Given the description of an element on the screen output the (x, y) to click on. 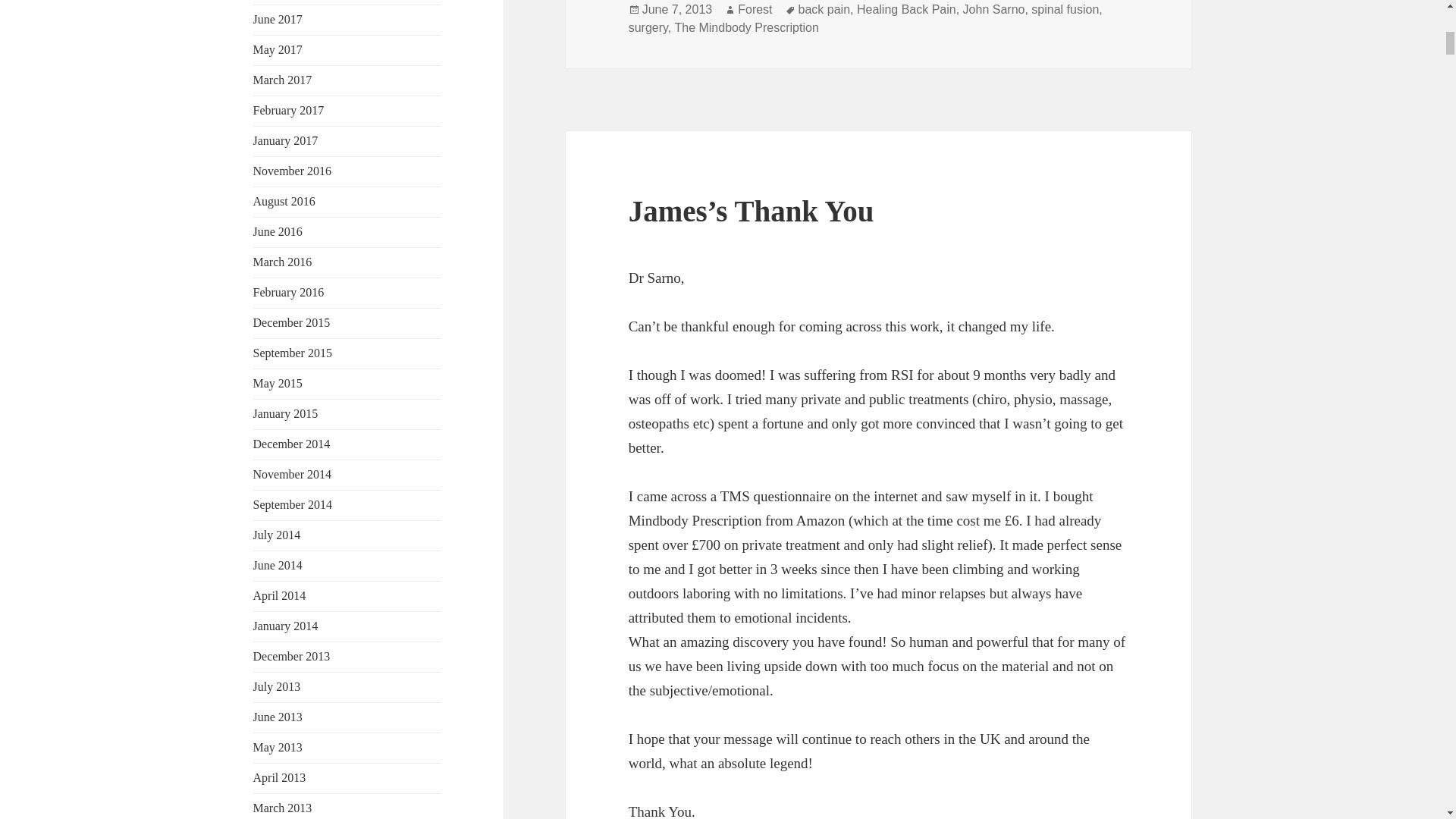
November 2016 (292, 170)
December 2013 (291, 656)
March 2017 (283, 79)
August 2016 (284, 201)
December 2015 (291, 322)
January 2014 (285, 625)
September 2015 (292, 352)
July 2013 (277, 686)
December 2014 (291, 443)
February 2017 (288, 110)
June 2016 (277, 231)
April 2014 (279, 594)
January 2015 (285, 413)
March 2016 (283, 261)
June 2014 (277, 564)
